Given the description of an element on the screen output the (x, y) to click on. 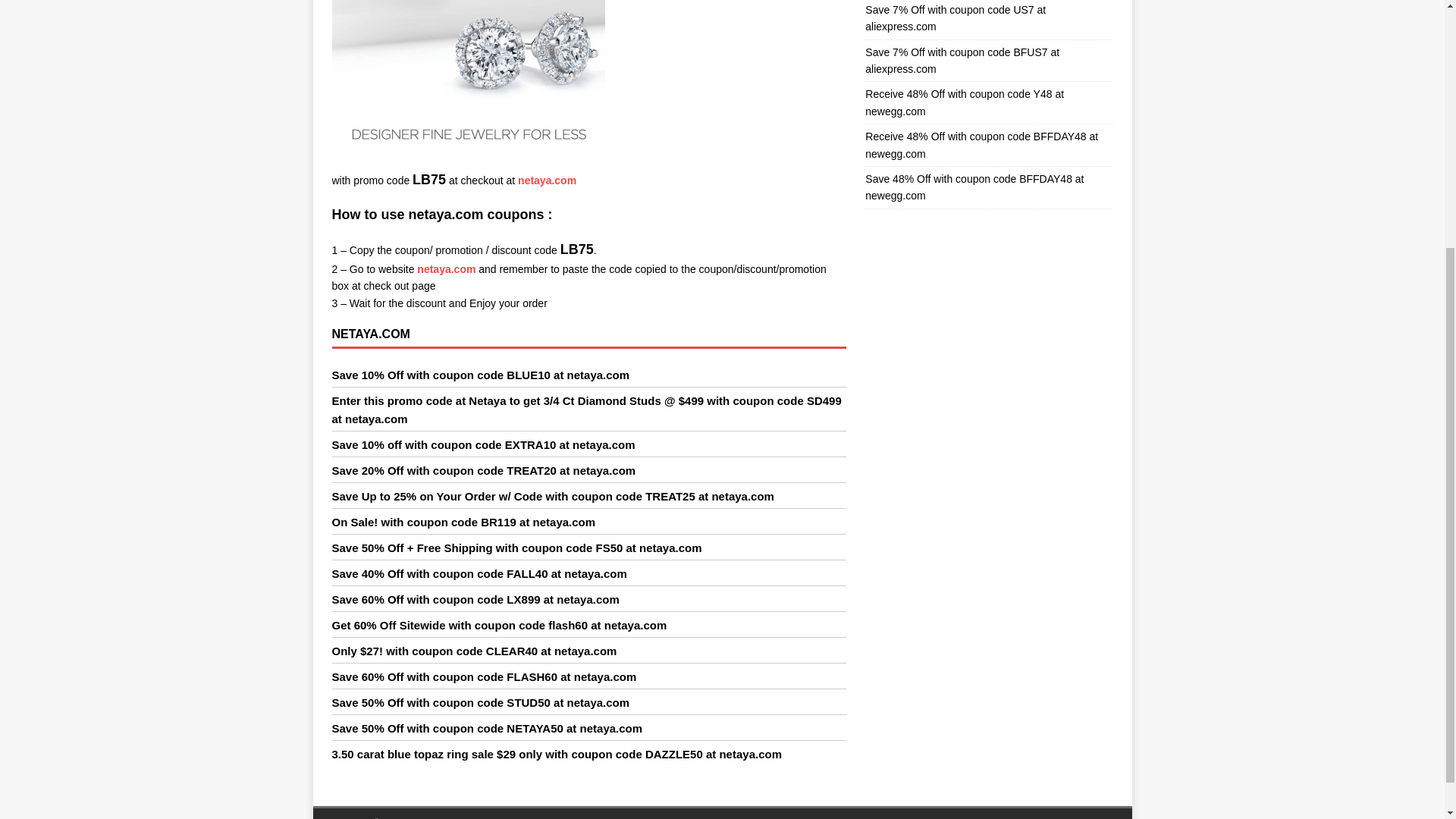
On Sale! with coupon code BR119 at netaya.com (463, 521)
